Given the description of an element on the screen output the (x, y) to click on. 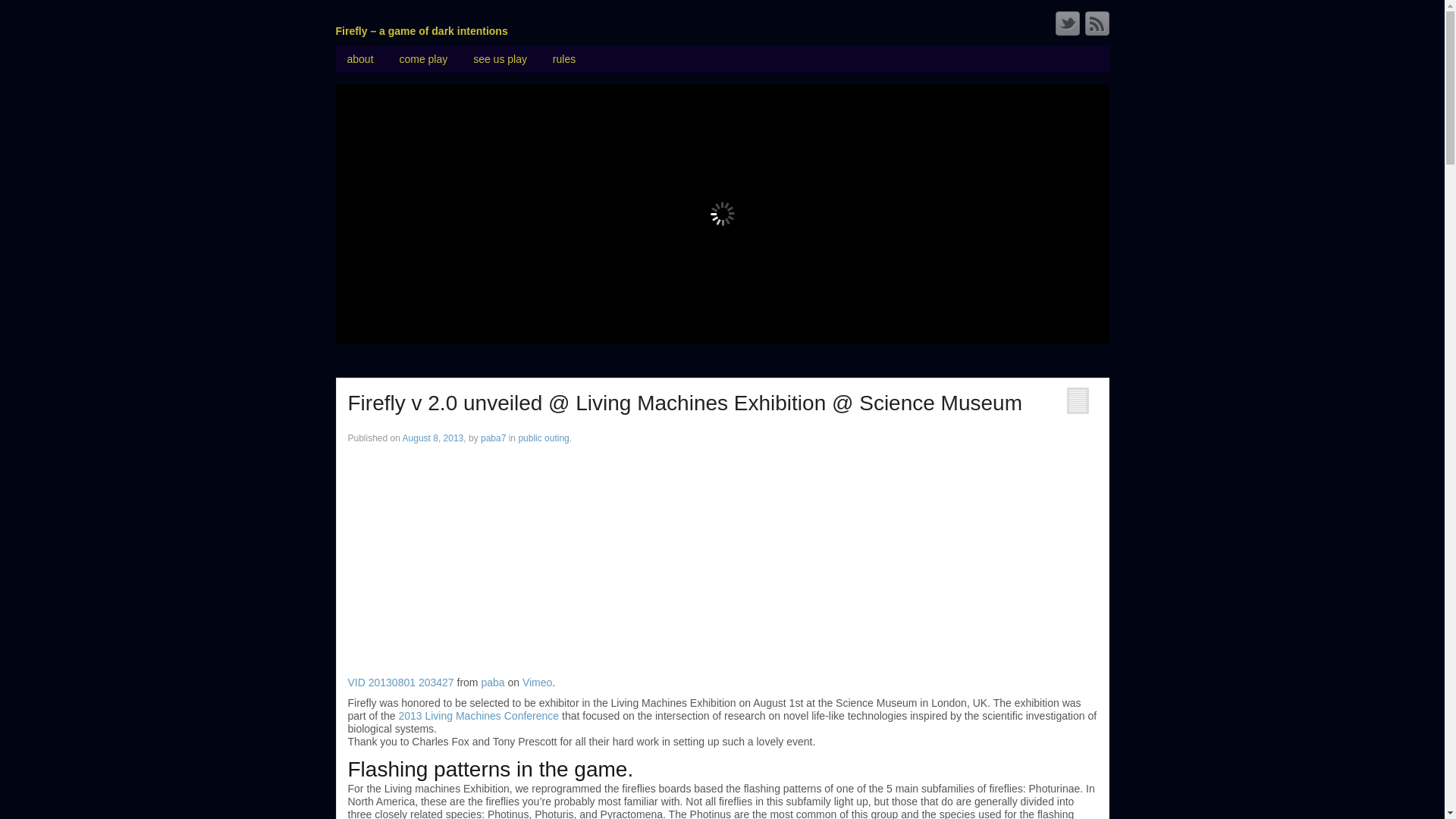
rules (563, 58)
paba (491, 682)
2013 Living Machines Conference (478, 715)
about (359, 58)
VID 20130801 203427 (399, 682)
Posts by paba7 (492, 438)
public outing (543, 438)
Vimeo (536, 682)
come play (422, 58)
August 8, 2013 (433, 438)
